Given the description of an element on the screen output the (x, y) to click on. 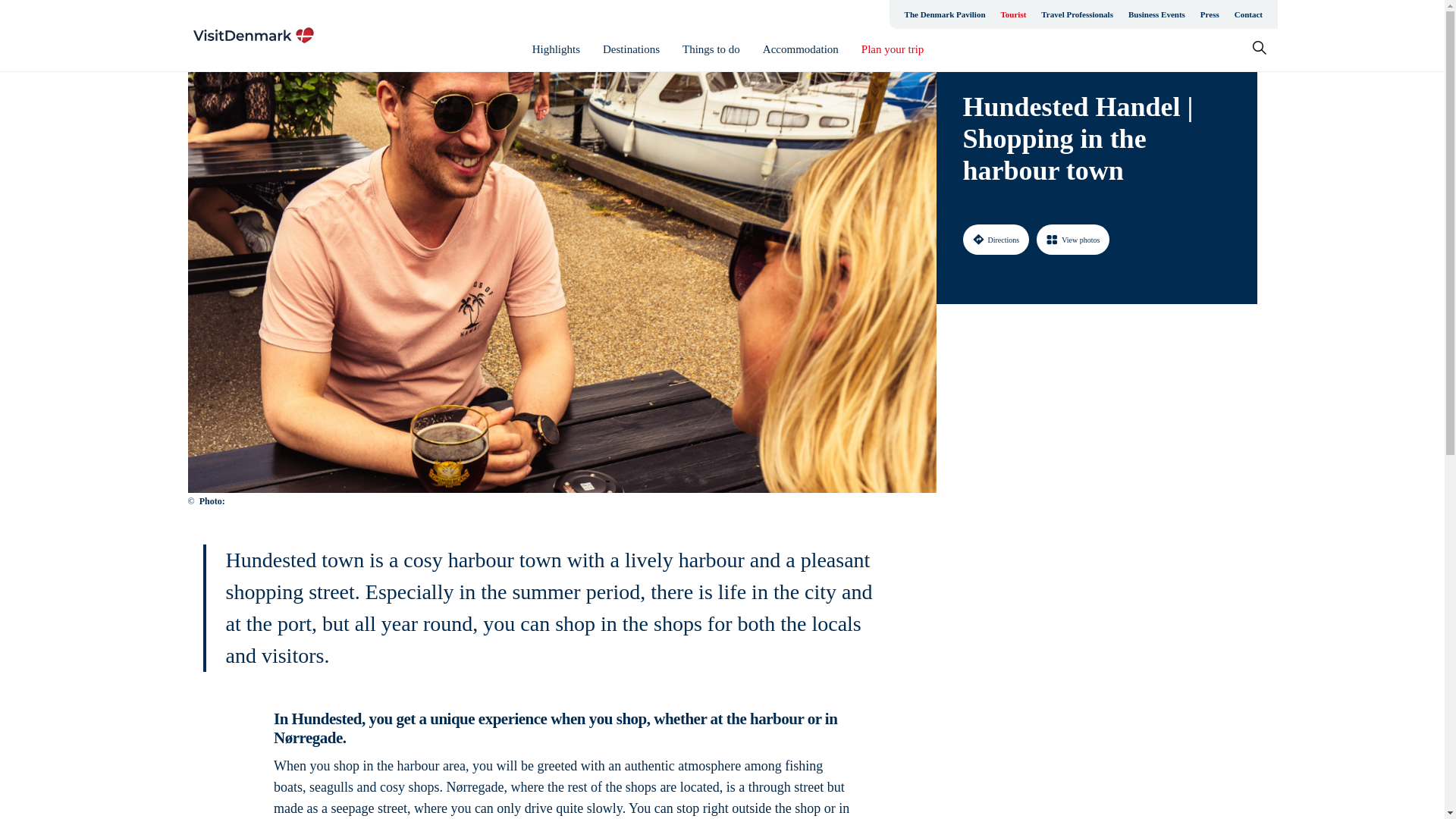
Tourist (1012, 14)
Things to do (710, 49)
The Denmark Pavilion (944, 14)
Accommodation (800, 49)
View photos (1072, 239)
Business Events (1156, 14)
Travel Professionals (1077, 14)
Destinations (630, 49)
Plan your trip (892, 49)
Directions (995, 239)
